Given the description of an element on the screen output the (x, y) to click on. 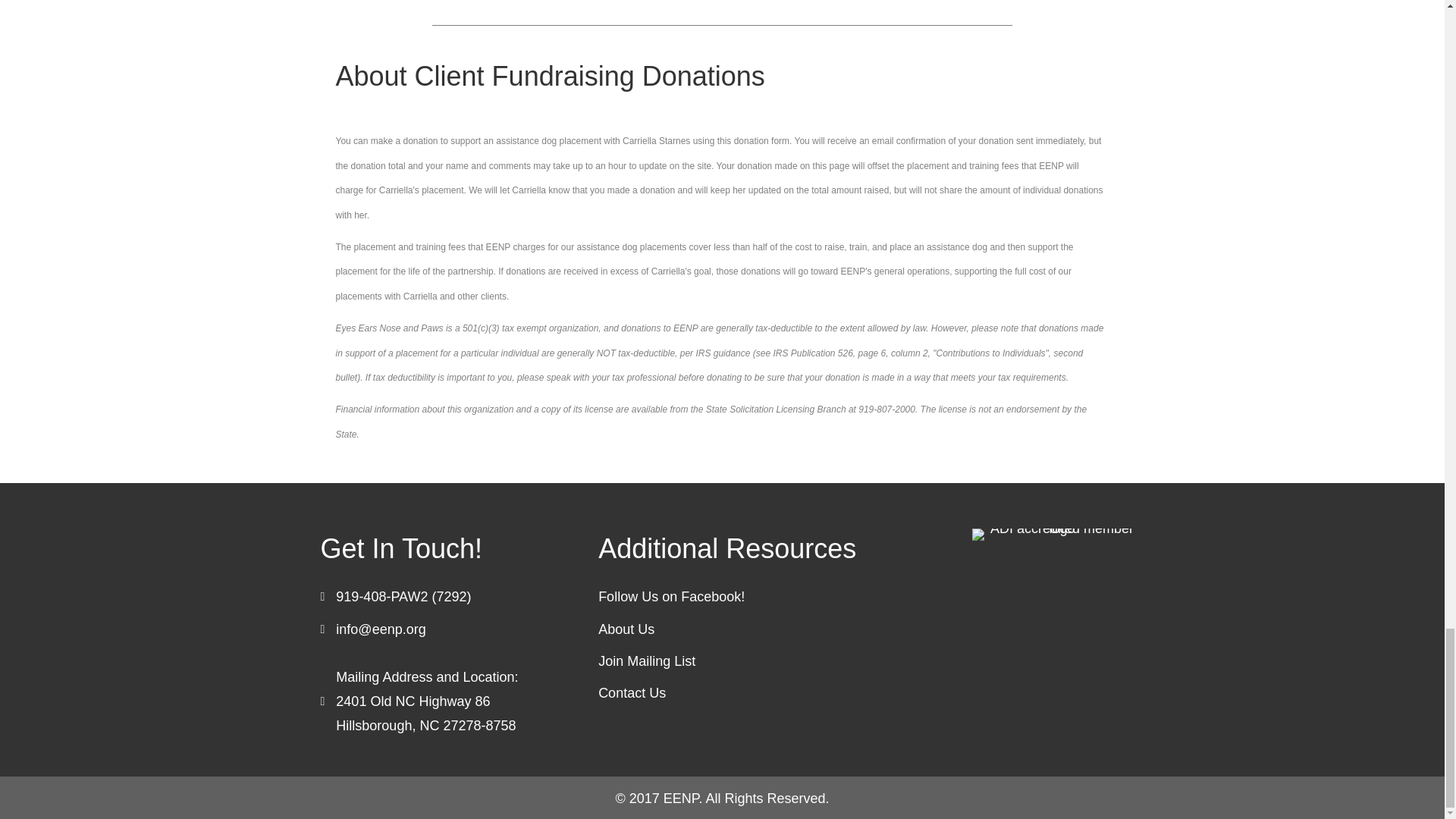
About Us (625, 628)
Follow Us on Facebook! (671, 596)
Contact Us (631, 693)
ADI-accredited-circle-DARK-logo sq (1055, 534)
Join Mailing List (646, 661)
